Given the description of an element on the screen output the (x, y) to click on. 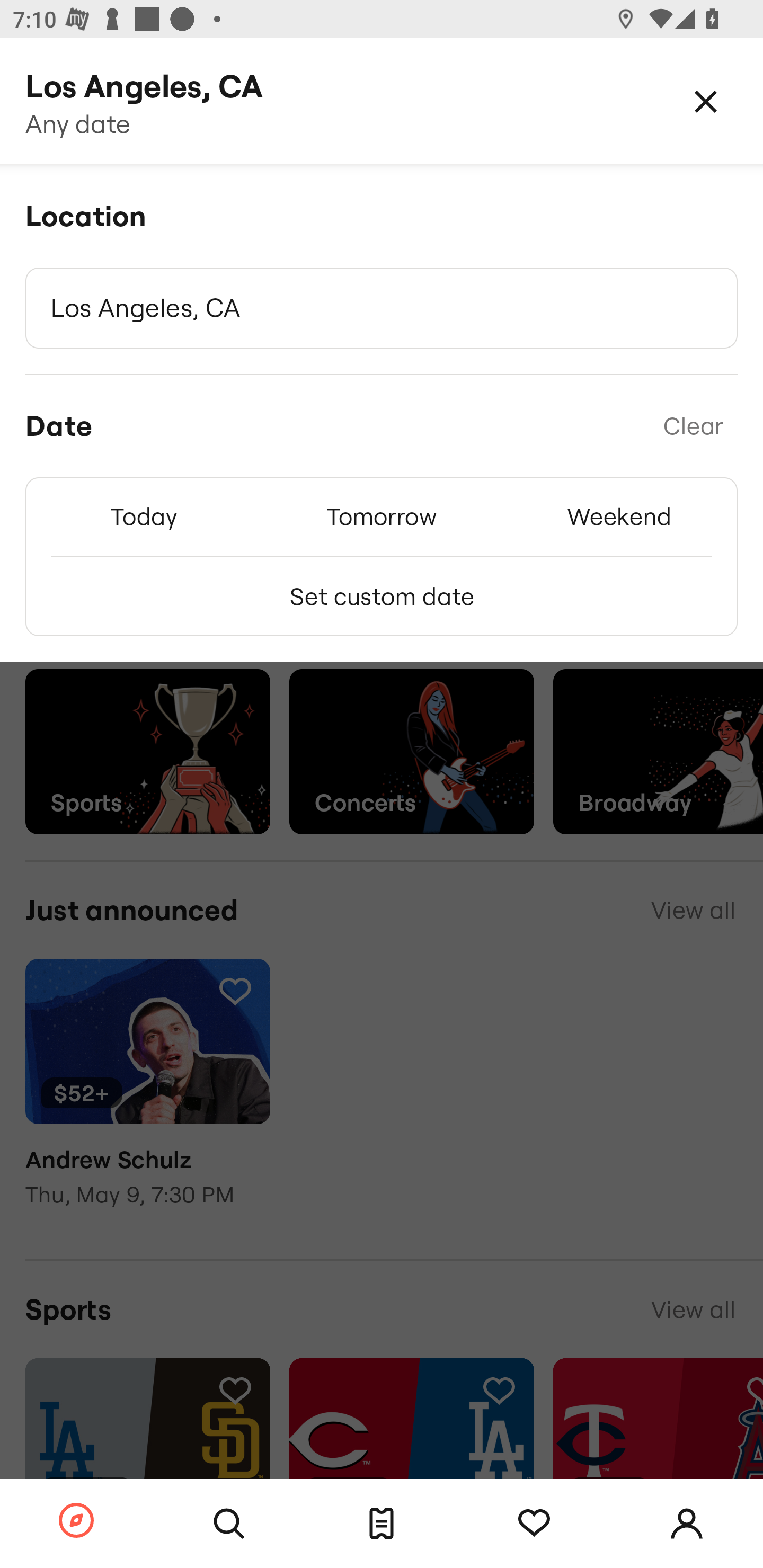
Close (705, 100)
Los Angeles, CA (381, 308)
Clear (693, 426)
Today (143, 516)
Tomorrow (381, 516)
Weekend (618, 516)
Set custom date (381, 596)
Browse (76, 1521)
Search (228, 1523)
Tickets (381, 1523)
Tracking (533, 1523)
Account (686, 1523)
